Given the description of an element on the screen output the (x, y) to click on. 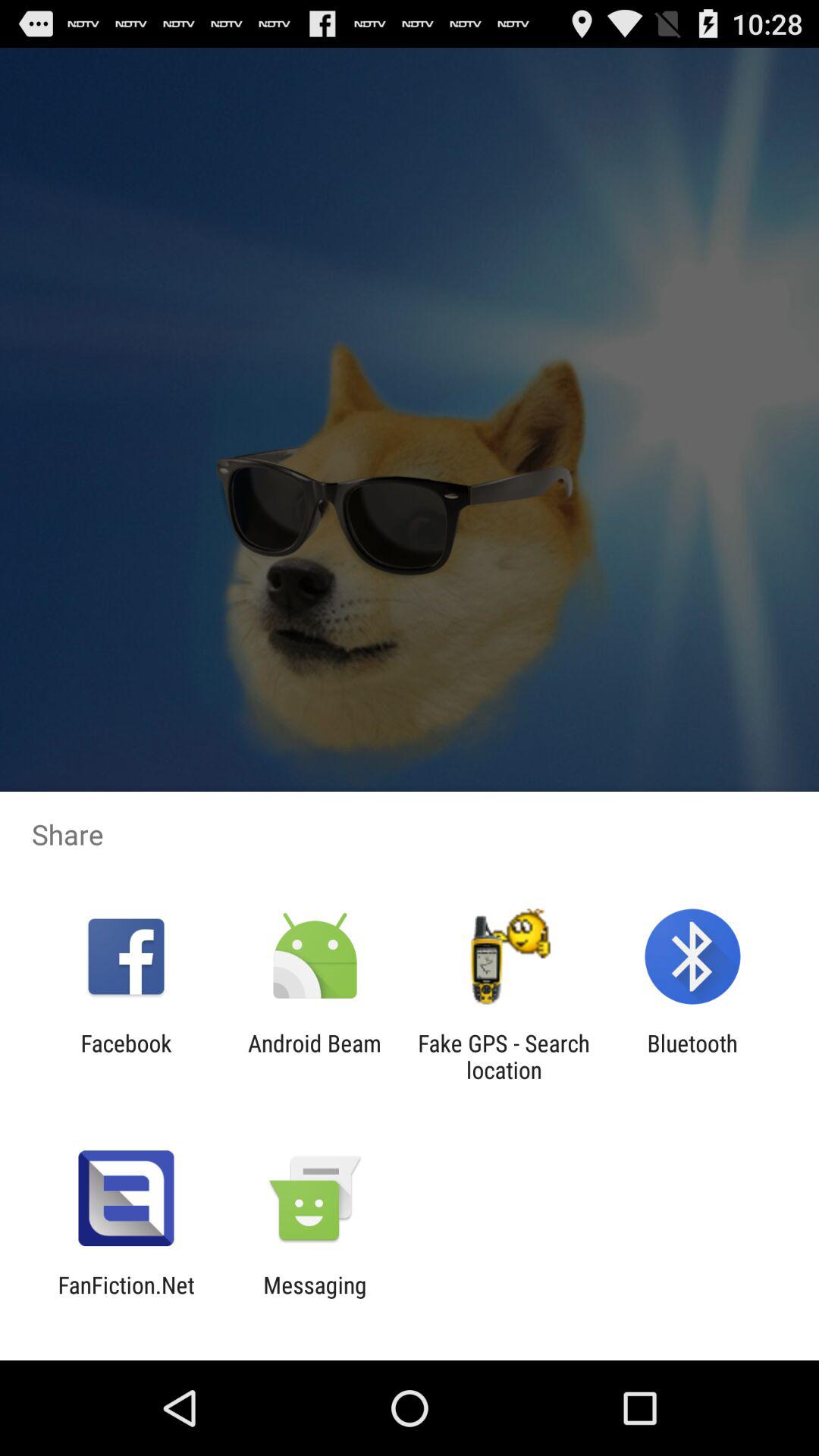
tap the fanfiction.net (126, 1298)
